Given the description of an element on the screen output the (x, y) to click on. 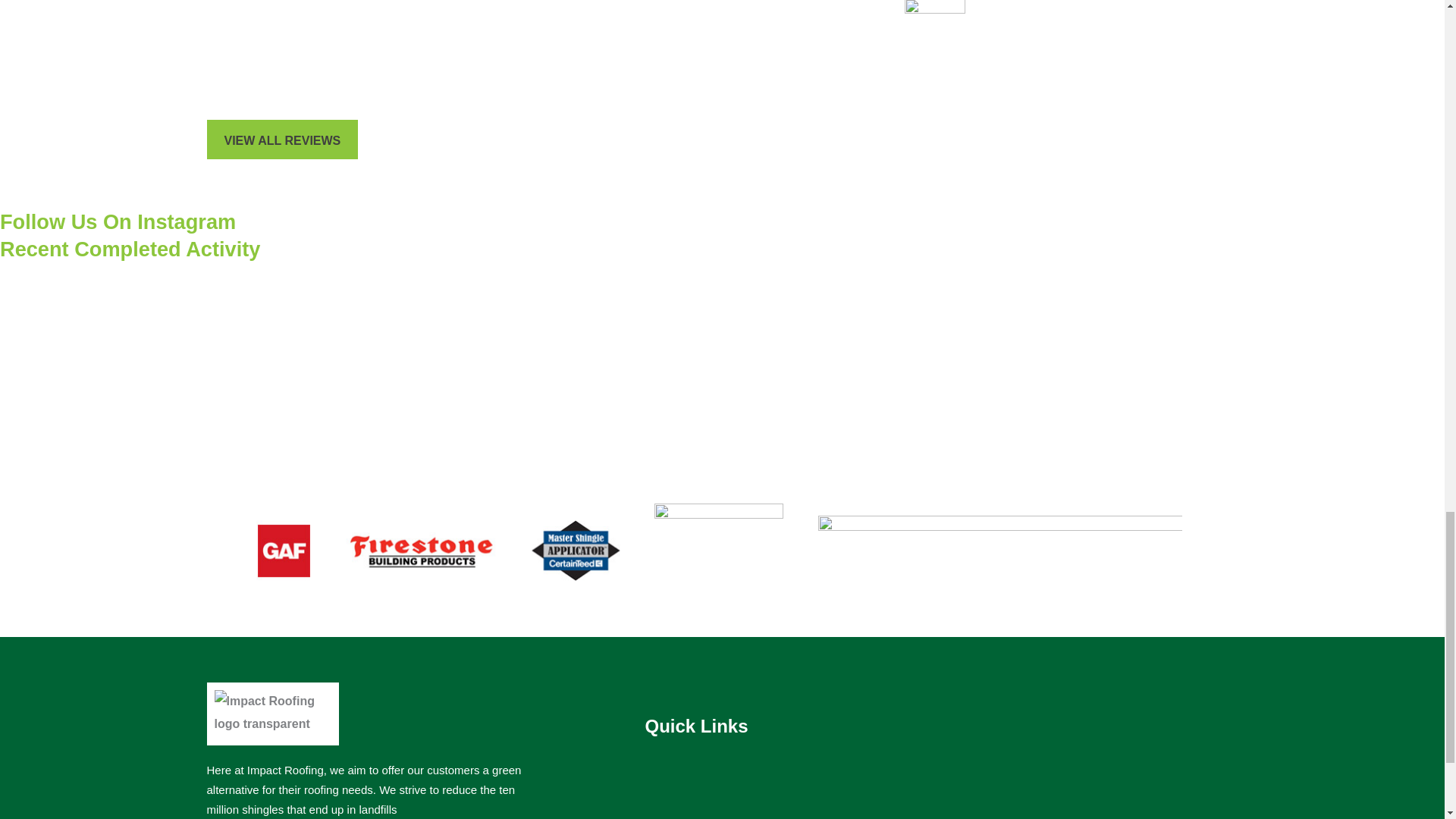
VIEW ALL REVIEWS (282, 138)
